Given the description of an element on the screen output the (x, y) to click on. 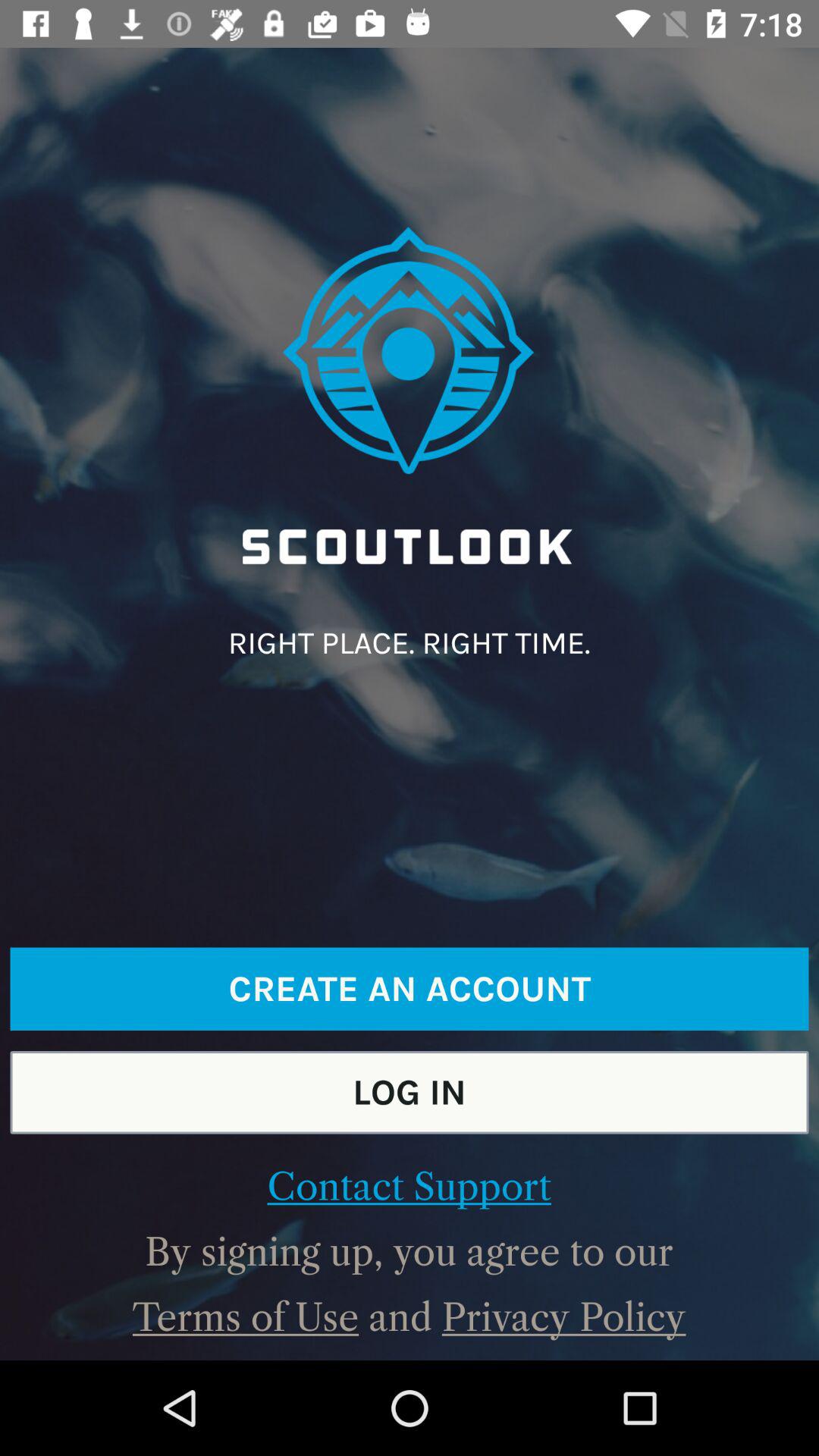
scroll to the create an account icon (409, 988)
